Given the description of an element on the screen output the (x, y) to click on. 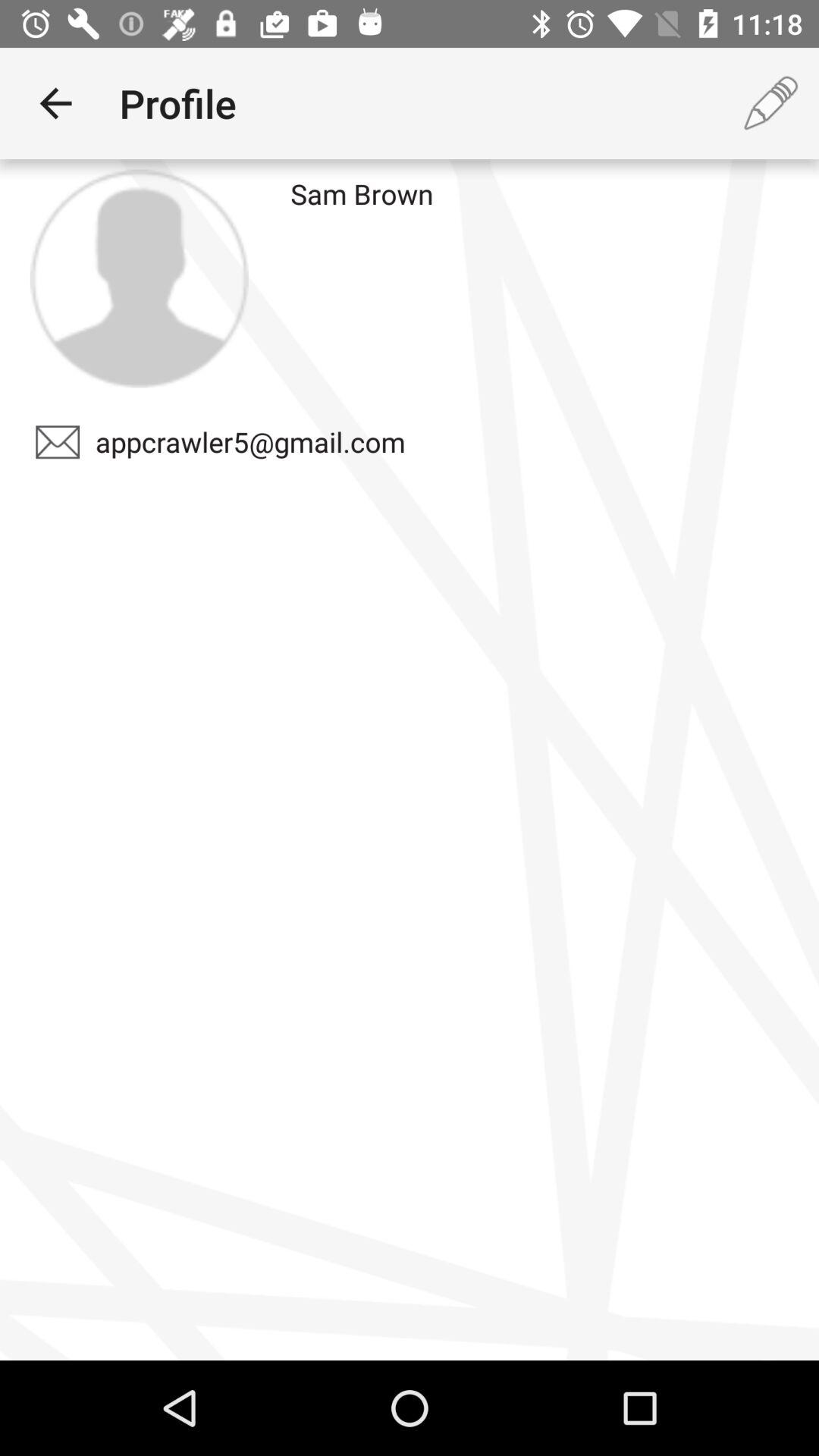
select icon next to the sam brown (771, 103)
